Given the description of an element on the screen output the (x, y) to click on. 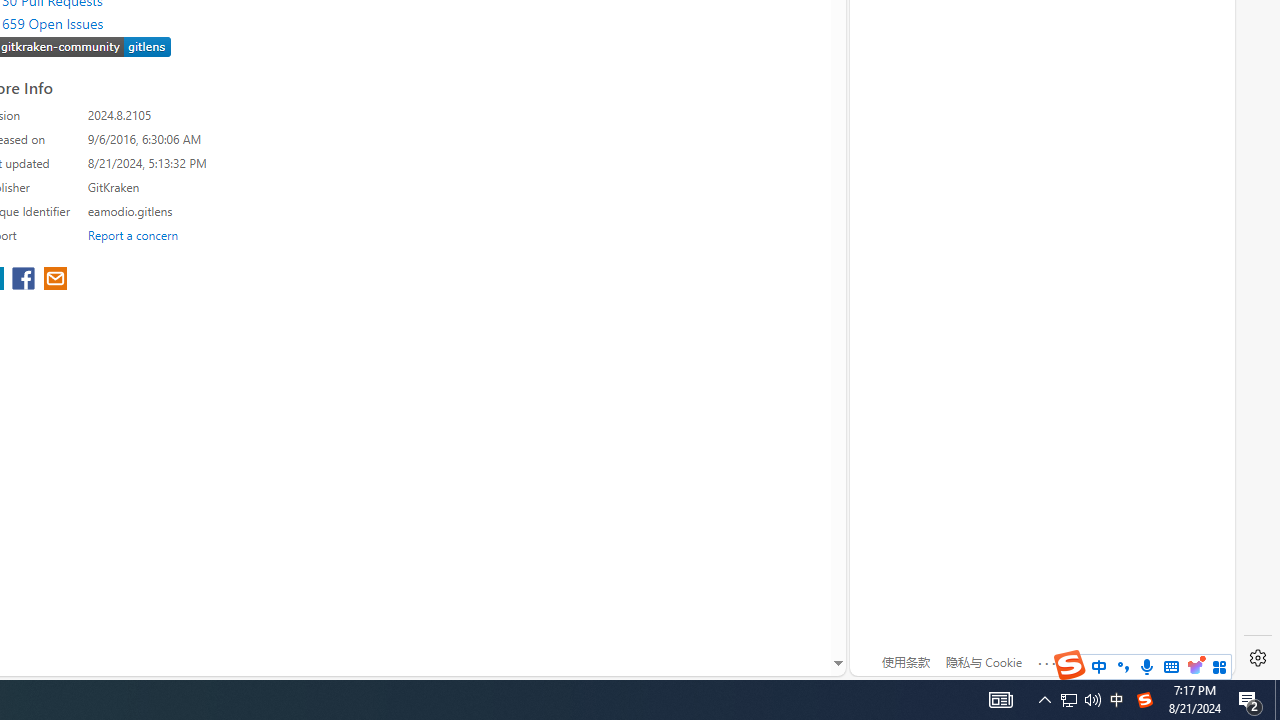
share extension on email (54, 280)
Report a concern (133, 234)
share extension on facebook (26, 280)
